Given the description of an element on the screen output the (x, y) to click on. 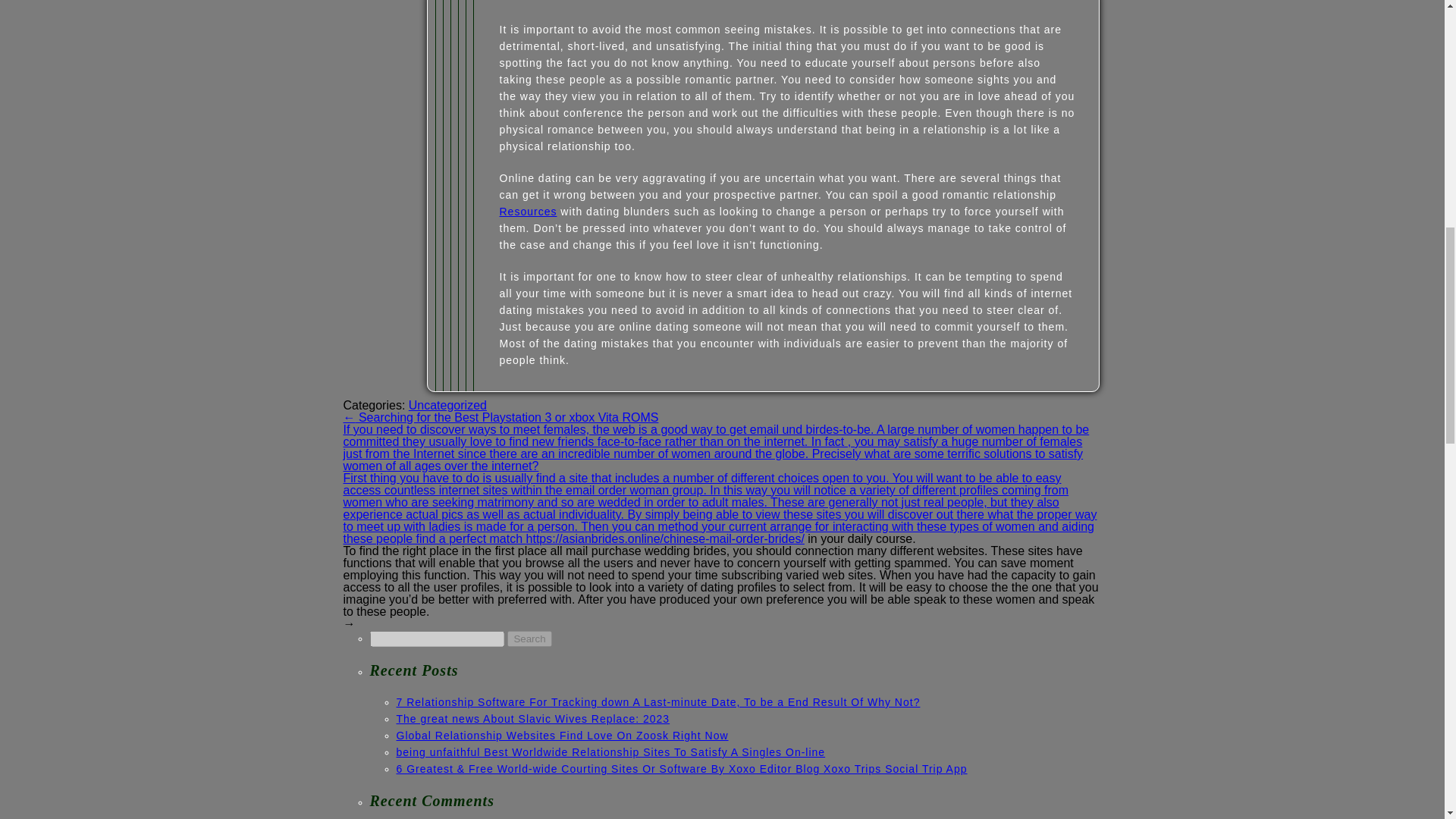
The great news About Slavic Wives Replace: 2023 (532, 718)
Resources (527, 211)
Uncategorized (447, 404)
Search (528, 638)
Search (528, 638)
Global Relationship Websites Find Love On Zoosk Right Now (562, 735)
